Given the description of an element on the screen output the (x, y) to click on. 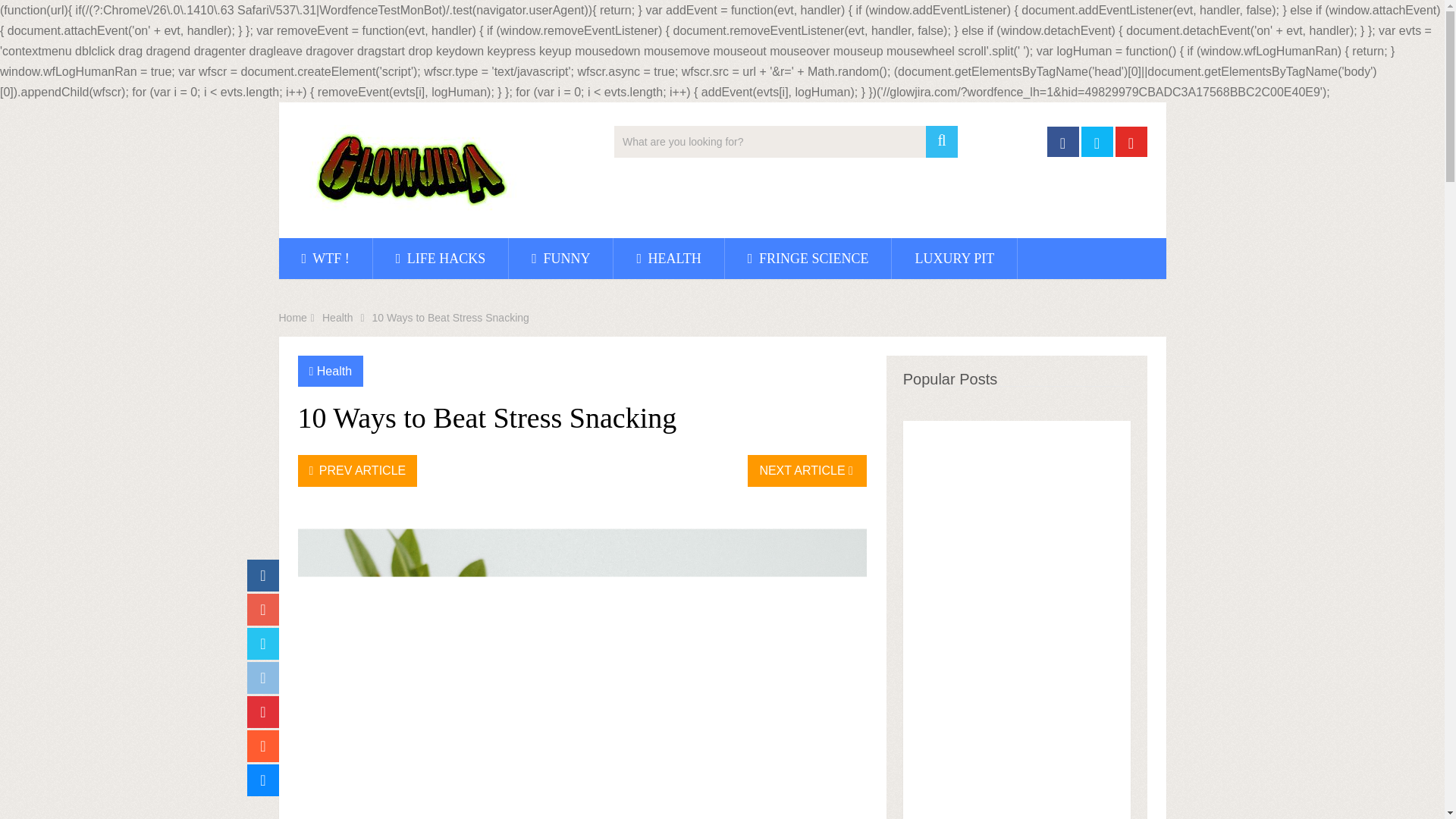
Health (334, 370)
LUXURY PIT (953, 258)
LIFE HACKS (440, 258)
NEXT ARTICLE (807, 470)
WTF ! (325, 258)
View all posts in Health (334, 370)
FUNNY (560, 258)
HEALTH (667, 258)
PREV ARTICLE (356, 470)
Home (293, 317)
